Given the description of an element on the screen output the (x, y) to click on. 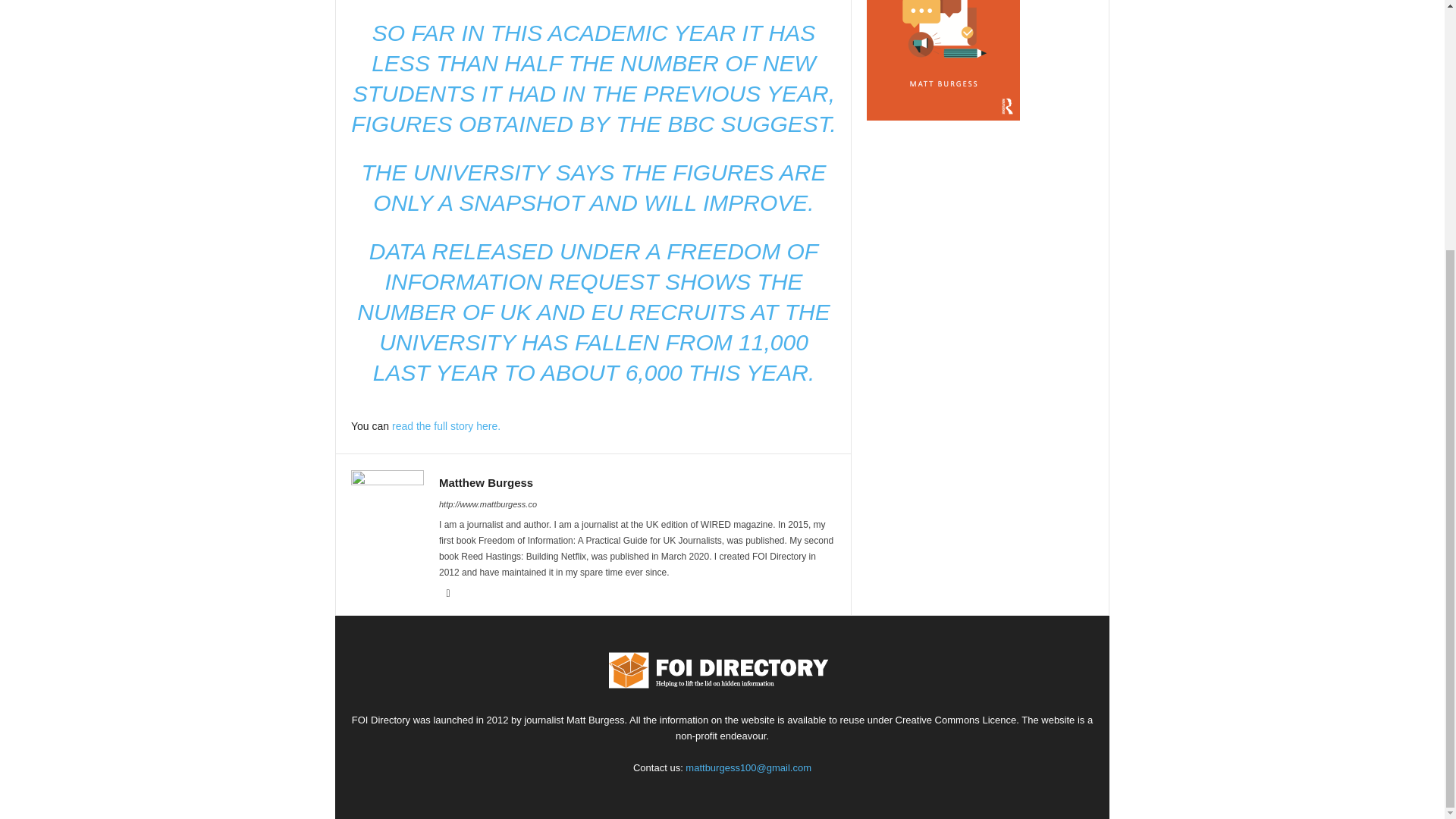
Twitter (448, 593)
